Given the description of an element on the screen output the (x, y) to click on. 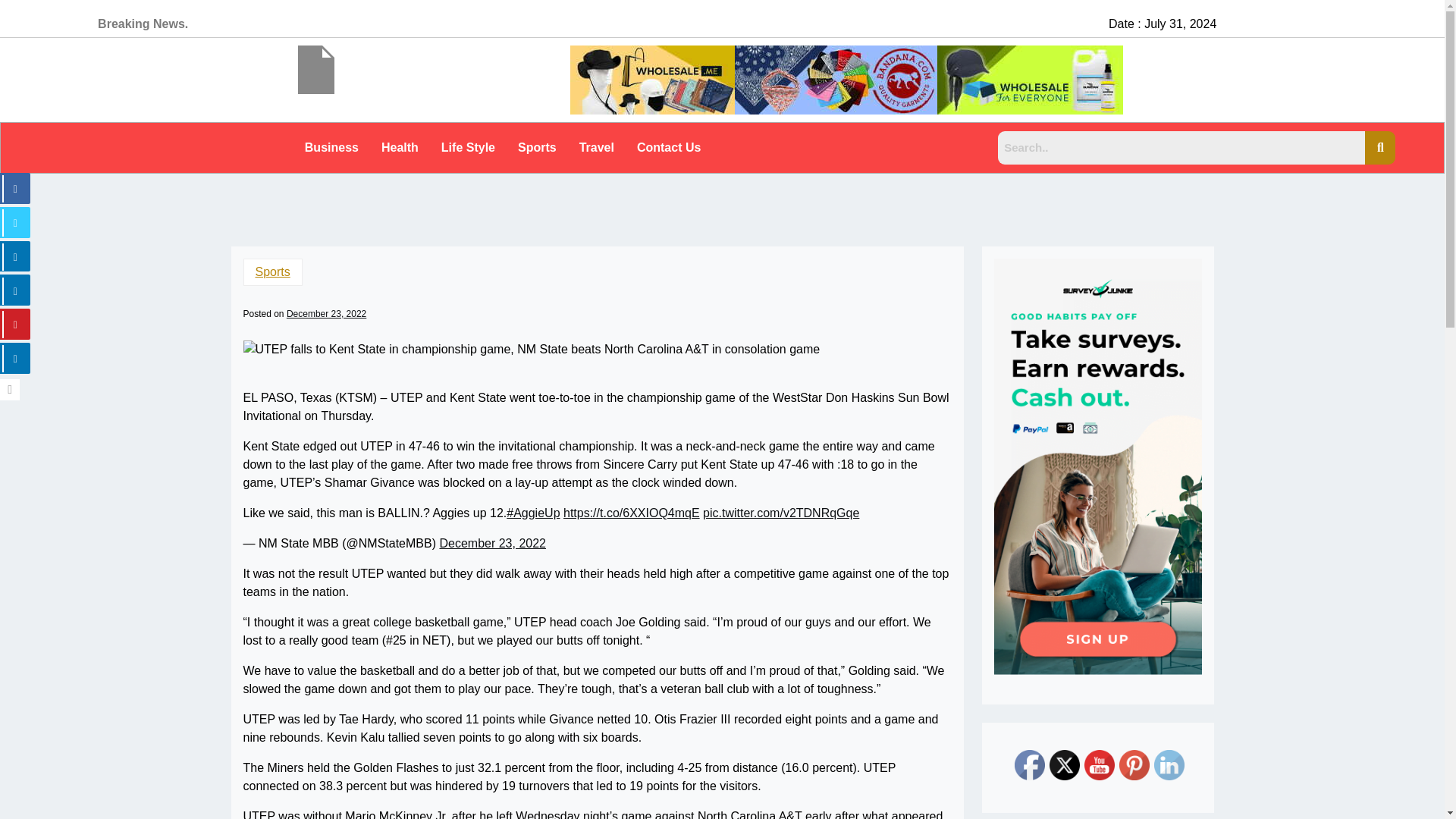
LinkedIn (1169, 765)
Sports (272, 271)
Business (331, 147)
Health (399, 147)
December 23, 2022 (326, 313)
December 23, 2022 (492, 543)
Search (1181, 147)
YouTube (1099, 765)
Contact Us (668, 147)
Life Style (467, 147)
Pinterest (1134, 765)
Sports (536, 147)
Facebook (1029, 765)
Twitter (1064, 765)
Travel (596, 147)
